Given the description of an element on the screen output the (x, y) to click on. 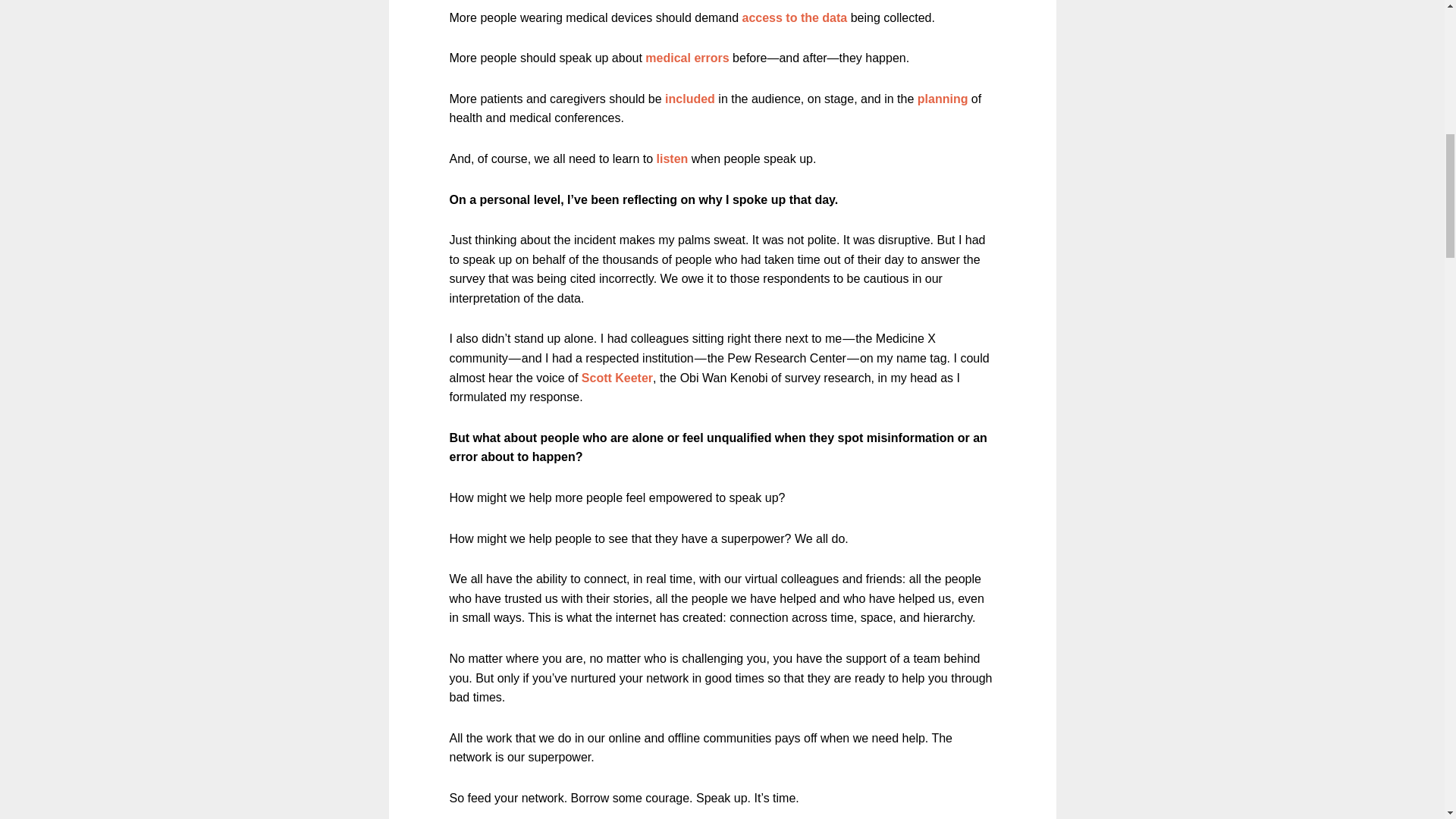
listen (672, 158)
medical errors (687, 57)
included (689, 98)
Scott Keeter (616, 377)
planning (942, 98)
access to the data (794, 17)
